Given the description of an element on the screen output the (x, y) to click on. 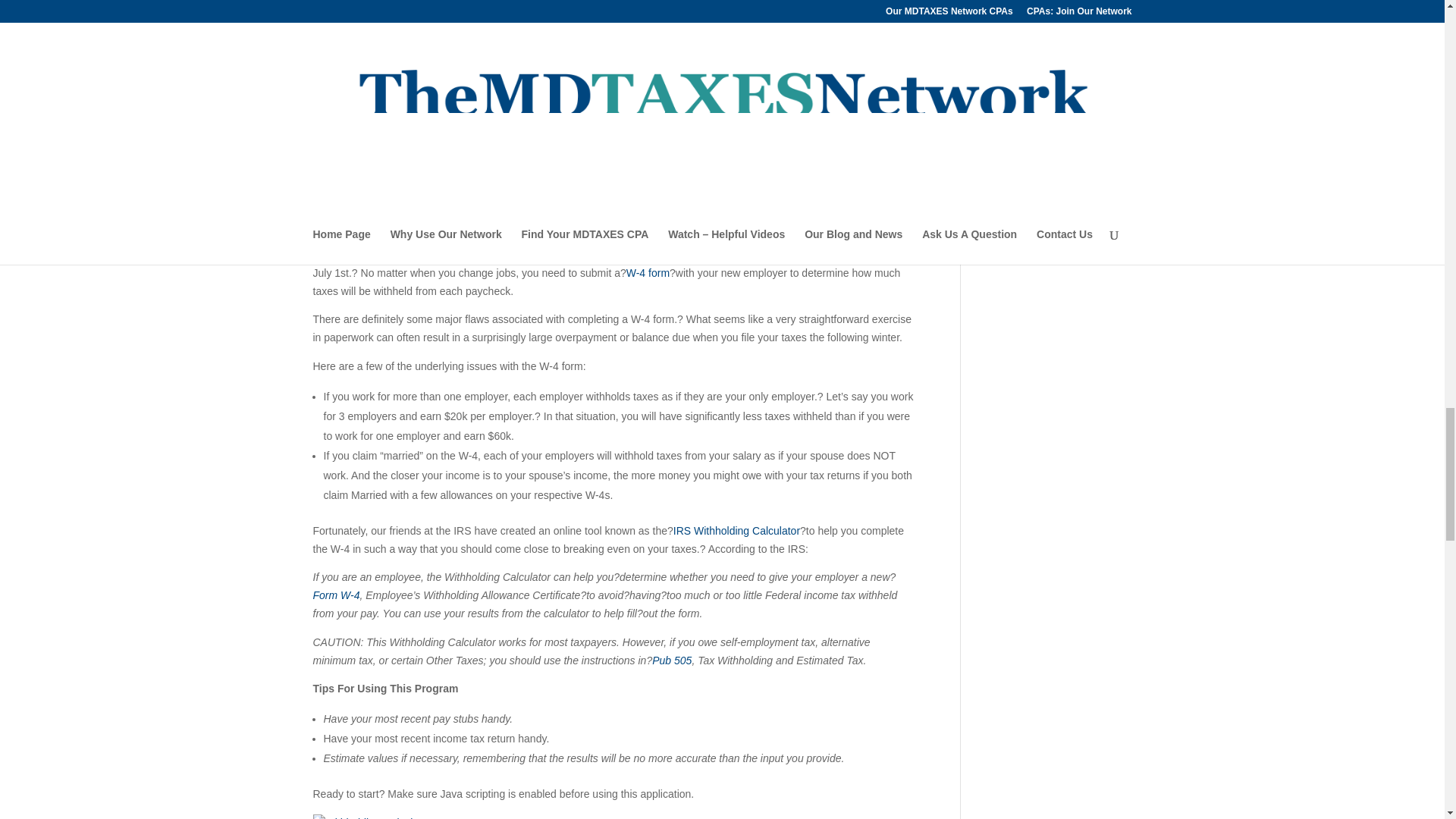
Posts by The MDTAXES Network (383, 220)
The MDTAXES Network (383, 220)
Uncategorized (549, 220)
W-4 form (647, 272)
IRS Withholding Calculator (735, 530)
IRS Withholdings (388, 194)
